Given the description of an element on the screen output the (x, y) to click on. 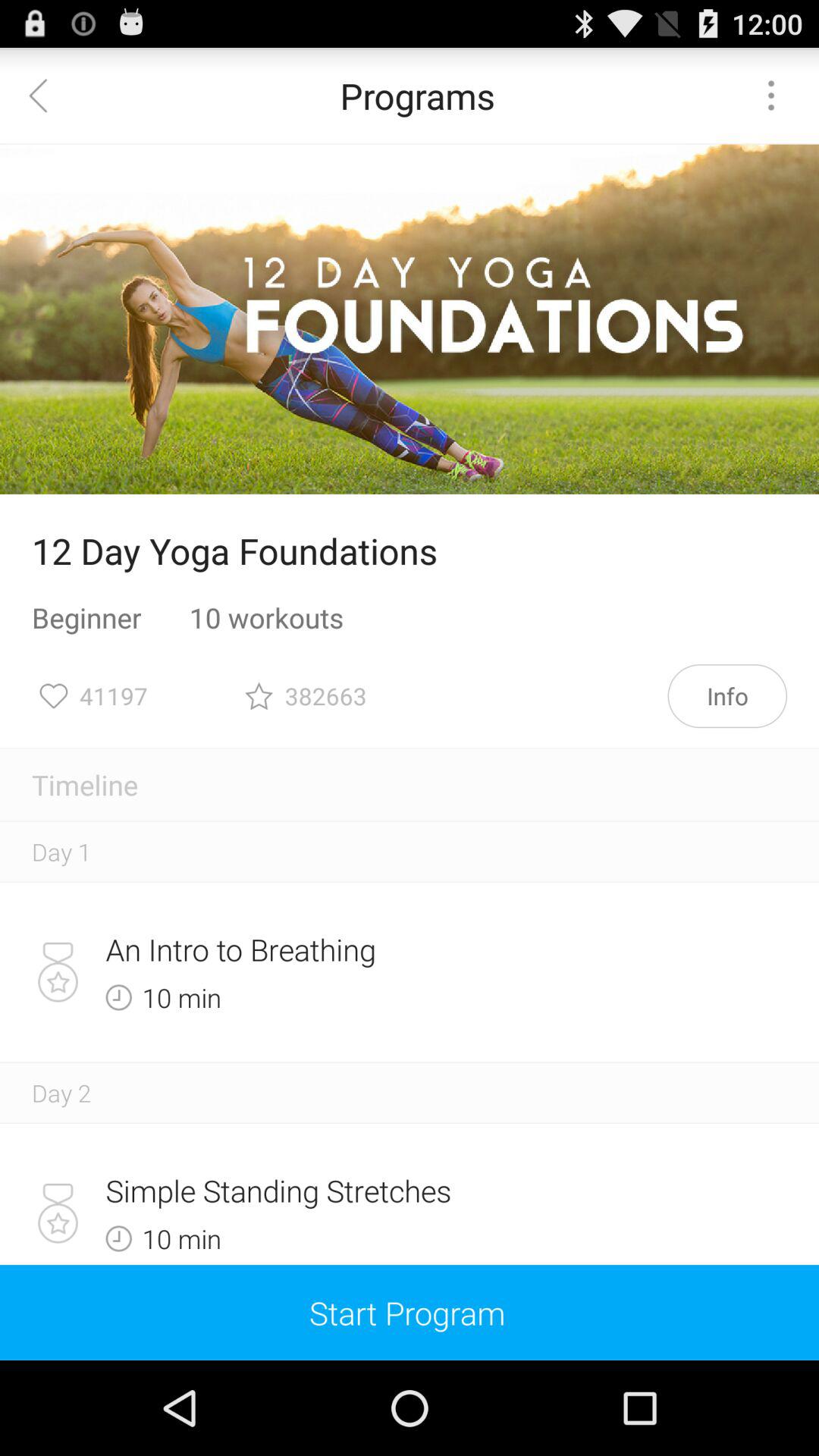
select the day 1 (61, 851)
